Given the description of an element on the screen output the (x, y) to click on. 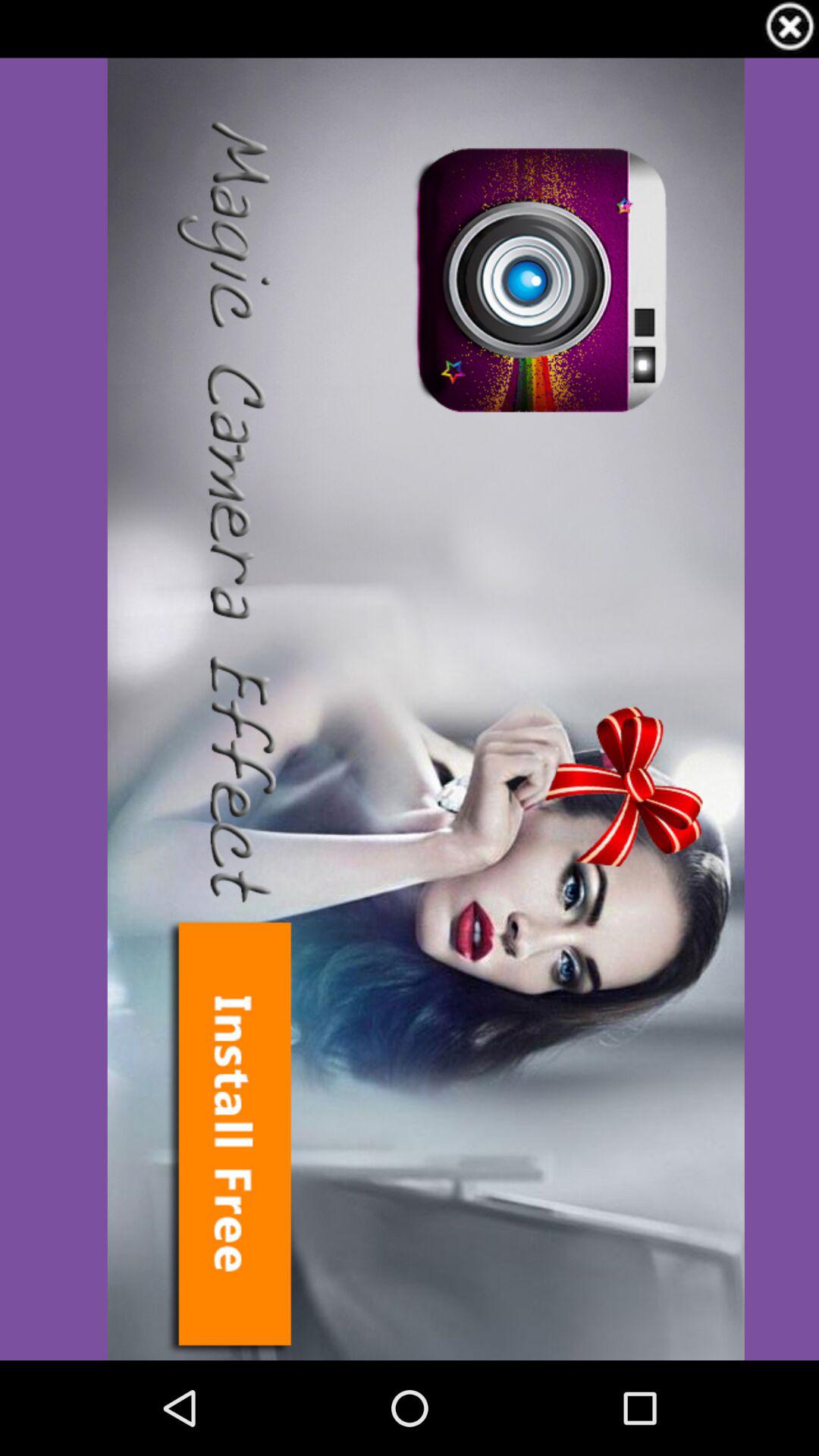
close this screen (789, 29)
